Given the description of an element on the screen output the (x, y) to click on. 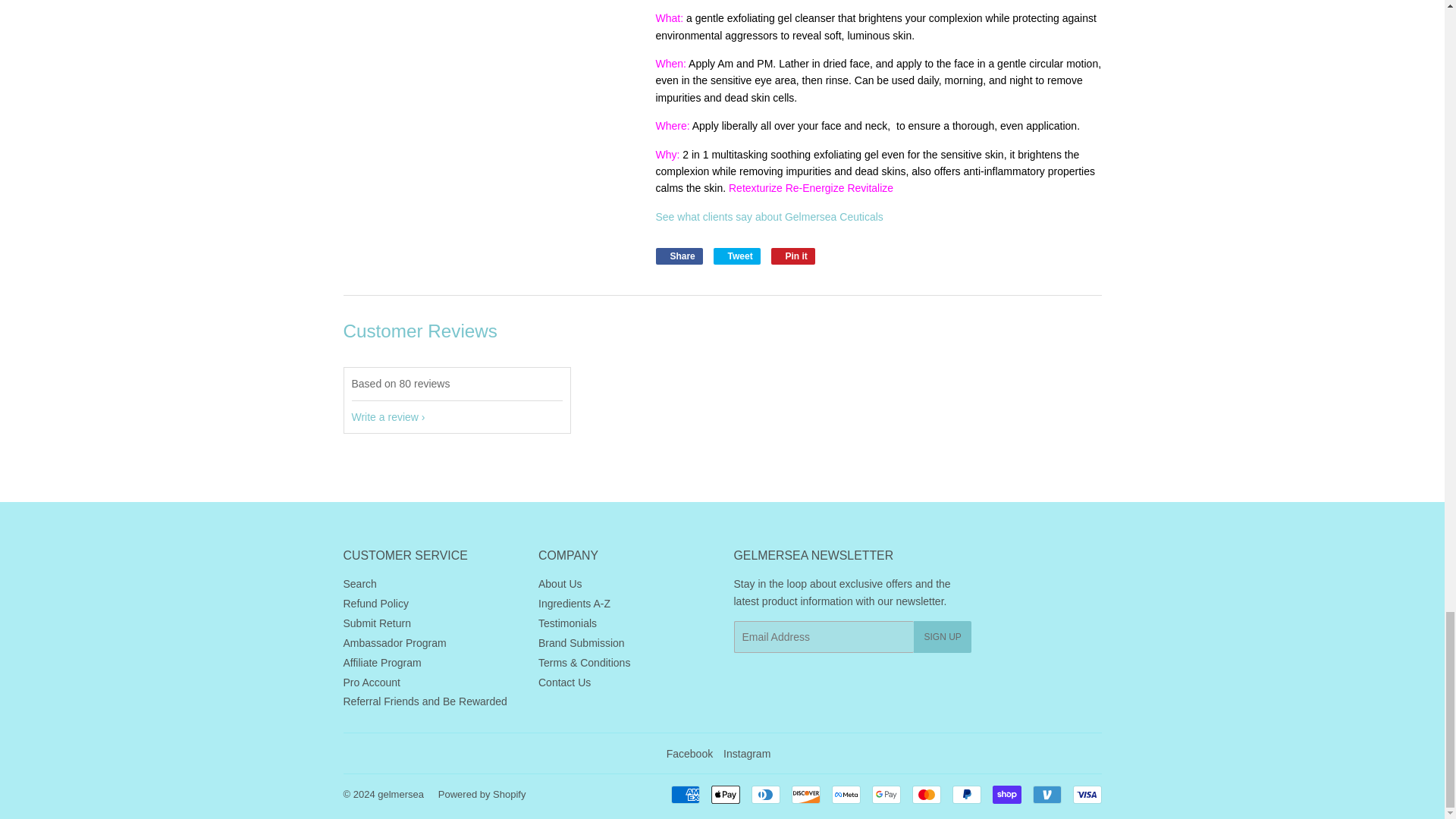
Share on Facebook (678, 256)
Apple Pay (725, 794)
Google Pay (886, 794)
Diners Club (764, 794)
Client Review Gelmersea (768, 216)
Tweet on Twitter (736, 256)
gelmersea on Instagram (746, 753)
Mastercard (925, 794)
Pin on Pinterest (793, 256)
PayPal (966, 794)
